Given the description of an element on the screen output the (x, y) to click on. 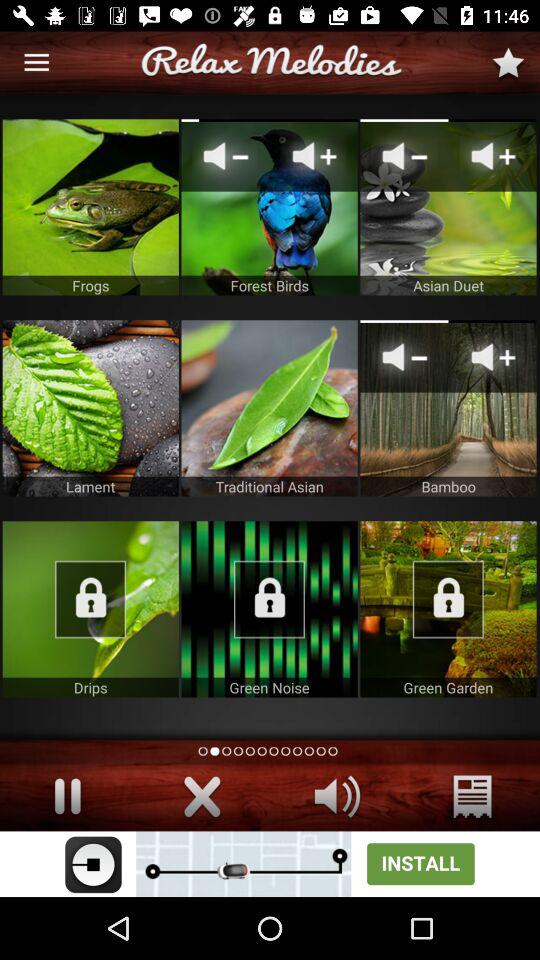
volume button (337, 796)
